Given the description of an element on the screen output the (x, y) to click on. 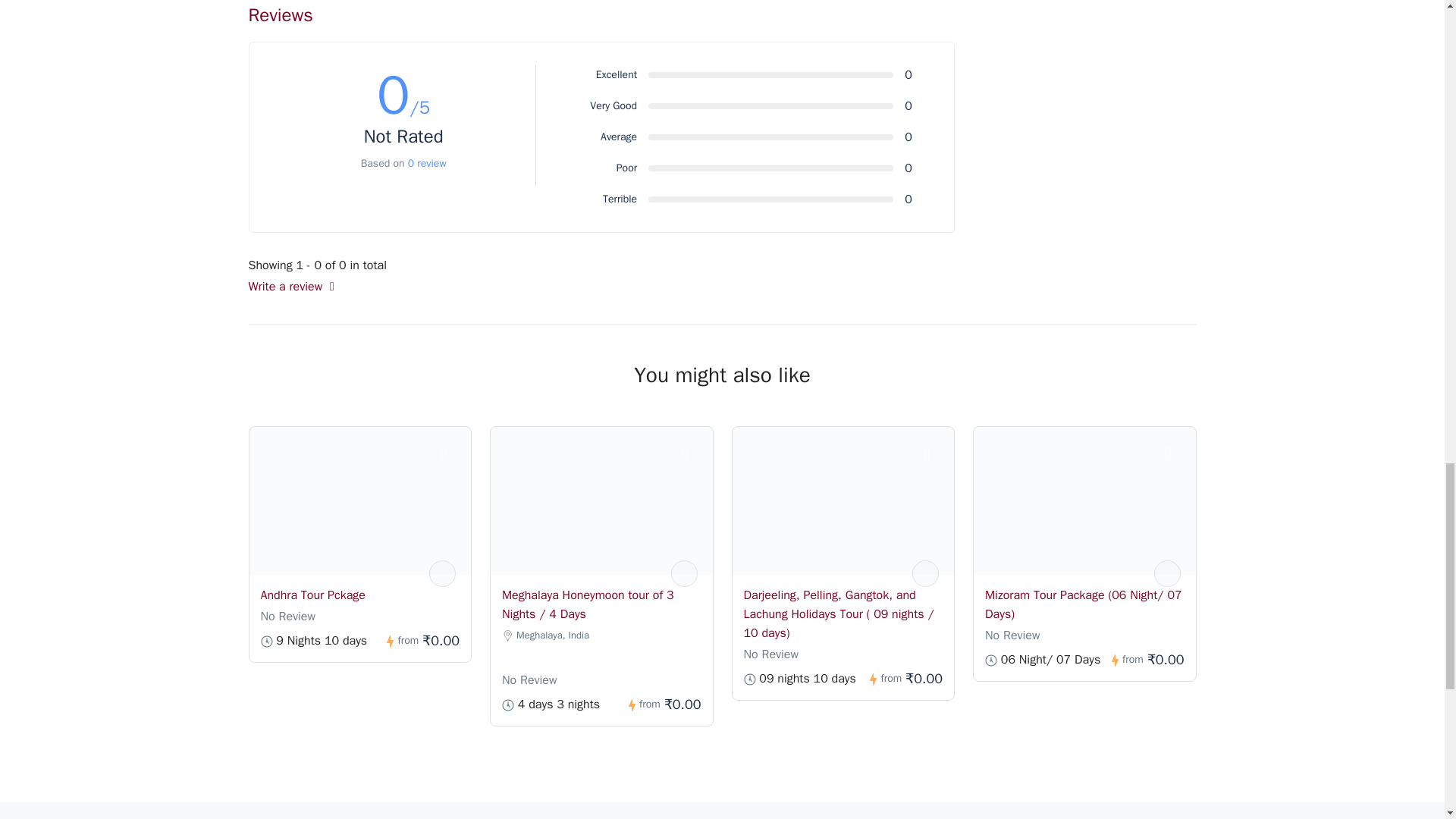
meetmyholiders (1167, 573)
Add to wishlist (1176, 454)
Add to wishlist (693, 454)
meetmyholiders (683, 573)
meetmyholiders (925, 573)
Add to wishlist (452, 454)
Add to wishlist (934, 454)
meetmyholiders (442, 573)
